Given the description of an element on the screen output the (x, y) to click on. 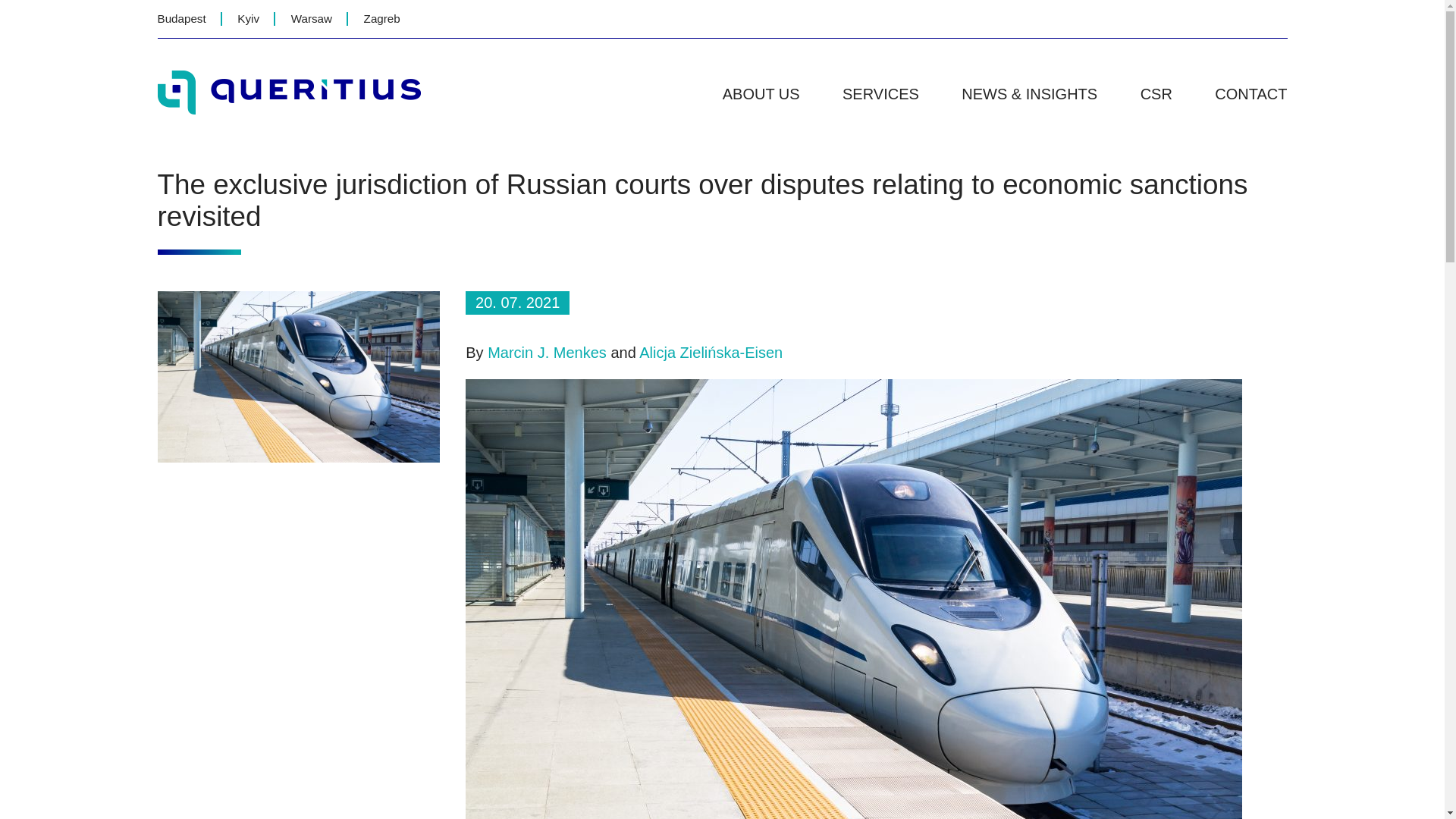
CSR (1156, 93)
SERVICES (880, 93)
Kyiv (248, 18)
Budapest (181, 18)
Warsaw (311, 18)
ABOUT US (760, 93)
CONTACT (1250, 93)
Marcin J. Menkes (547, 352)
Zagreb (382, 18)
